Given the description of an element on the screen output the (x, y) to click on. 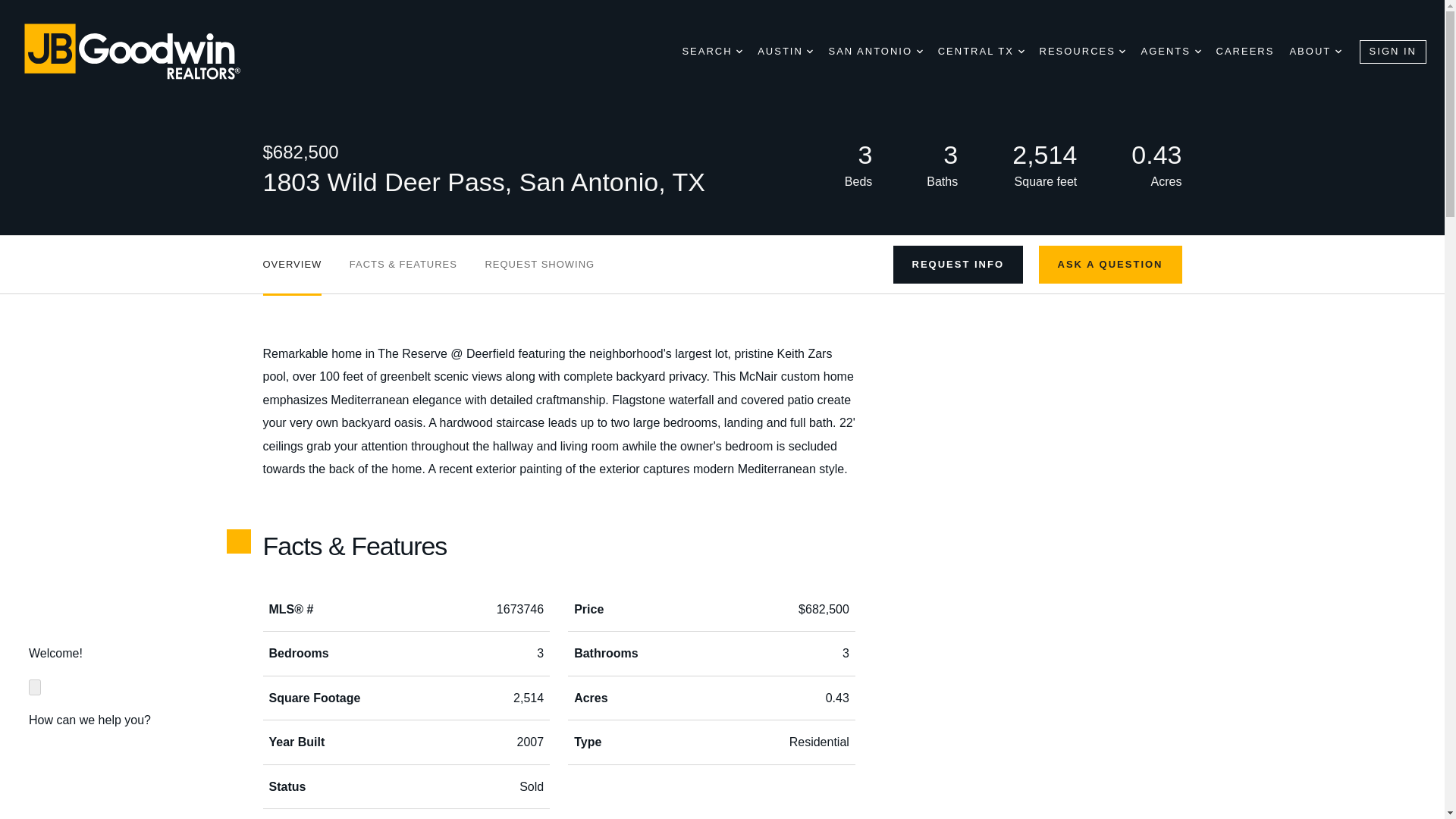
SAN ANTONIO DROPDOWN ARROW (874, 51)
DROPDOWN ARROW (1021, 51)
DROPDOWN ARROW (920, 51)
DROPDOWN ARROW (1337, 51)
DROPDOWN ARROW (809, 51)
SEARCH DROPDOWN ARROW (711, 51)
DROPDOWN ARROW (1198, 51)
DROPDOWN ARROW (739, 51)
AUSTIN DROPDOWN ARROW (784, 51)
CENTRAL TX DROPDOWN ARROW (981, 51)
